Given the description of an element on the screen output the (x, y) to click on. 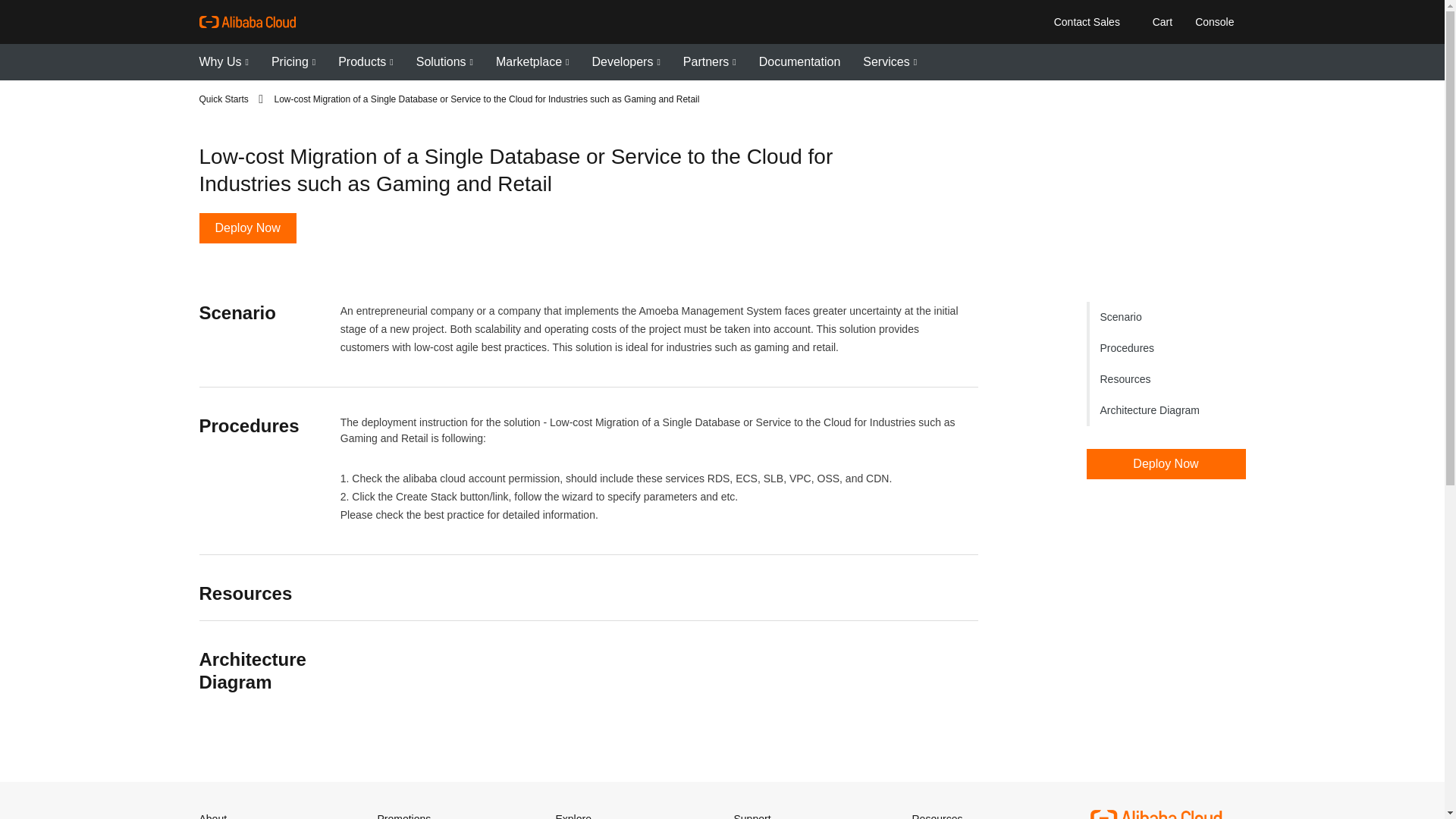
Solutions (444, 62)
Partners (709, 62)
Why Us (222, 62)
Services (890, 62)
Alibaba Cloud (246, 22)
Products (365, 62)
Developers (625, 62)
Pricing (292, 62)
Marketplace (532, 62)
  Cart (1159, 22)
Contact Sales (1086, 22)
Console (1213, 22)
Documentation (799, 62)
